Given the description of an element on the screen output the (x, y) to click on. 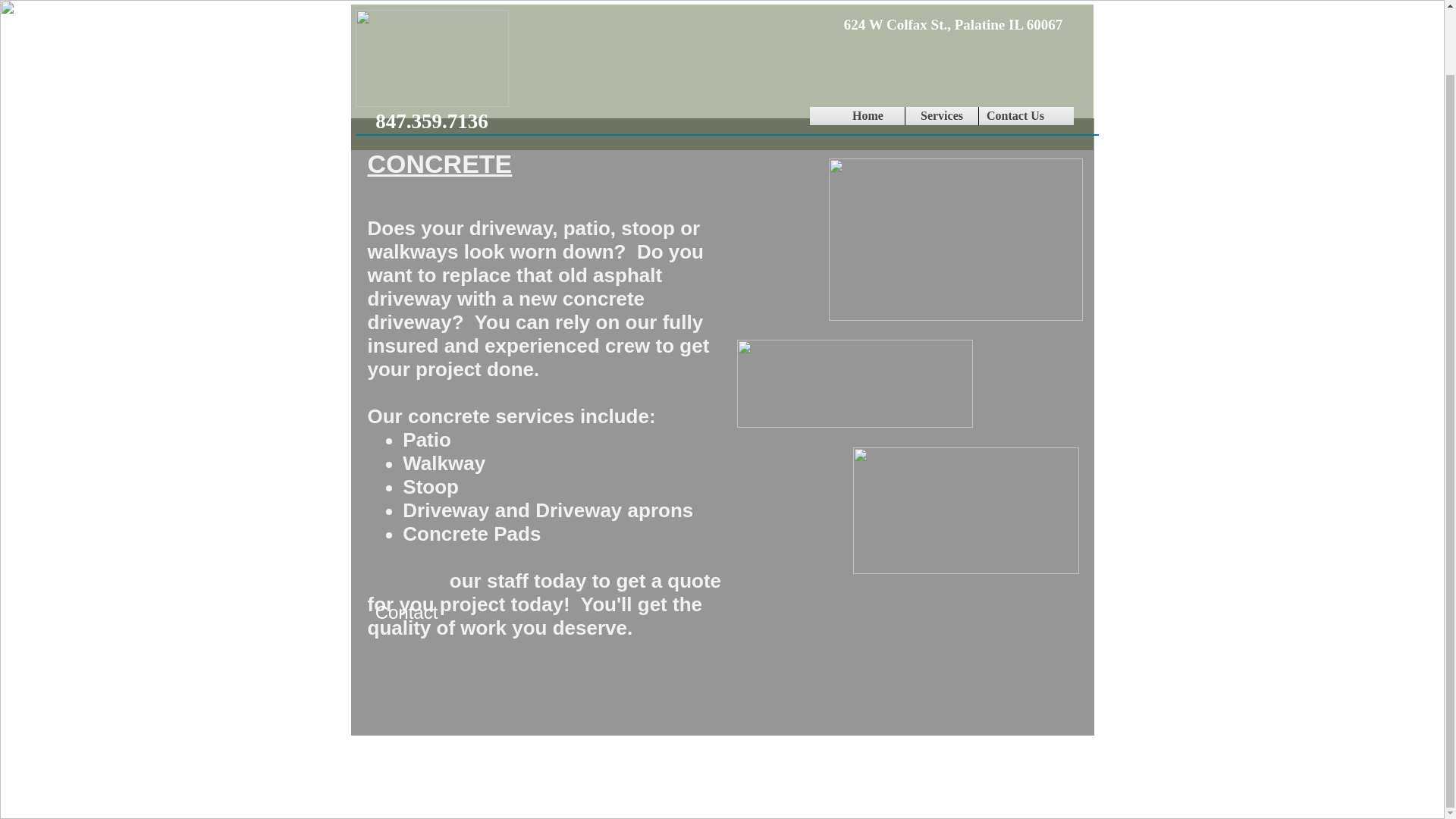
Home (867, 45)
Contact (406, 611)
847.359.7136 (432, 51)
Contact Us (1014, 45)
